Given the description of an element on the screen output the (x, y) to click on. 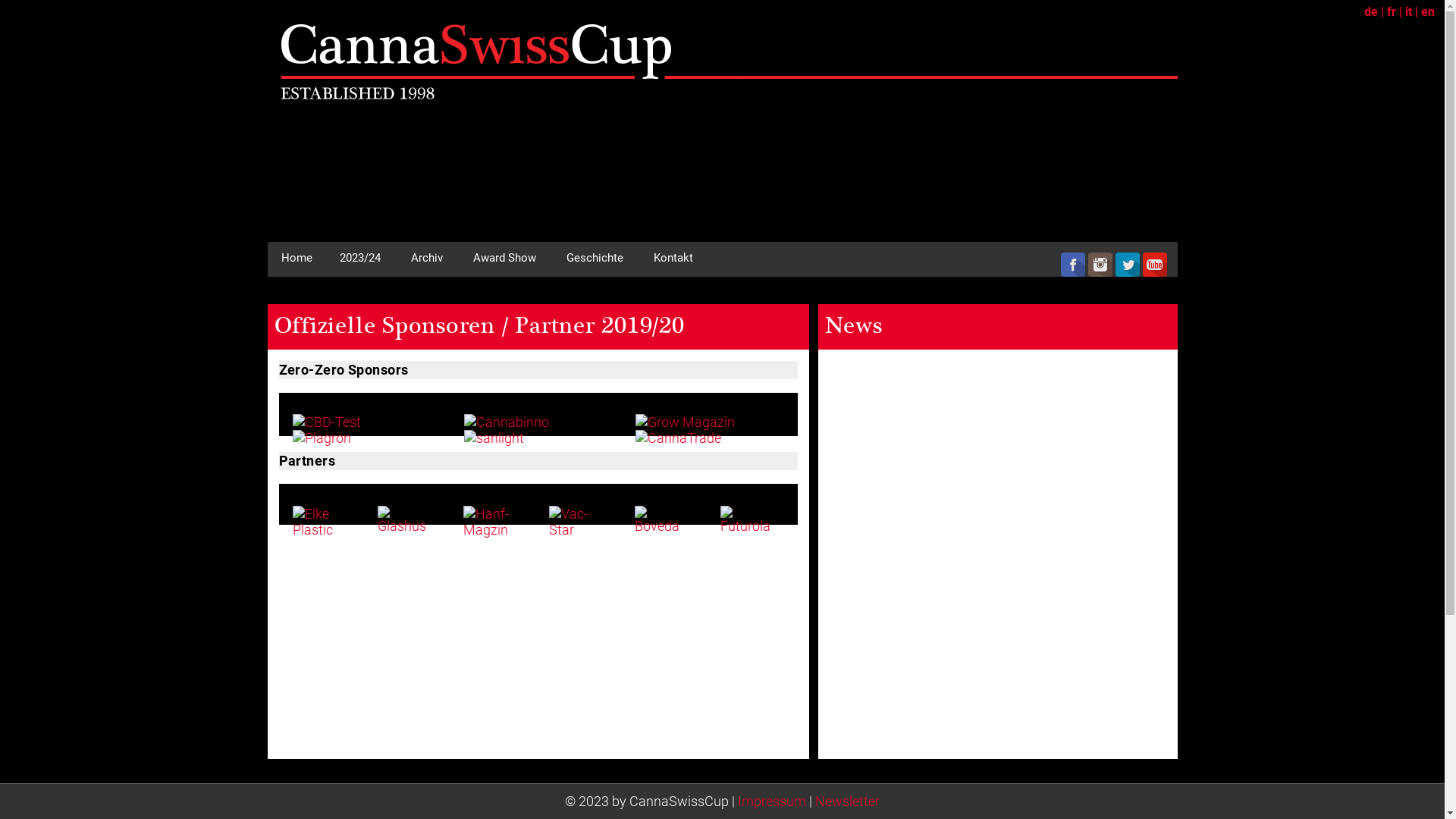
it Element type: text (1408, 11)
CannaTrade Element type: hover (678, 437)
Vac-Star Element type: hover (576, 521)
Archiv Element type: text (426, 257)
Glashus Element type: hover (405, 519)
twitter Element type: hover (1126, 264)
youtube Element type: hover (1154, 264)
Futurola Element type: hover (747, 519)
Impressum Element type: text (771, 801)
en Element type: text (1427, 11)
sanlight Element type: hover (494, 437)
de Element type: text (1370, 11)
Plagron Element type: hover (321, 437)
Award Show Element type: text (504, 257)
Kontakt Element type: text (673, 257)
Geschichte Element type: text (594, 257)
Home Element type: text (295, 257)
Hanf-Magzin Element type: hover (490, 521)
Elke Plastic Element type: hover (320, 521)
Grow Magazin Element type: hover (684, 421)
facebook Element type: hover (1072, 264)
CBD-Test Element type: hover (326, 421)
fr Element type: text (1391, 11)
Newsletter Element type: text (847, 801)
Boveda Element type: hover (662, 519)
instagram Element type: hover (1099, 264)
Cannabinno Element type: hover (506, 421)
2023/24 Element type: text (360, 257)
